Given the description of an element on the screen output the (x, y) to click on. 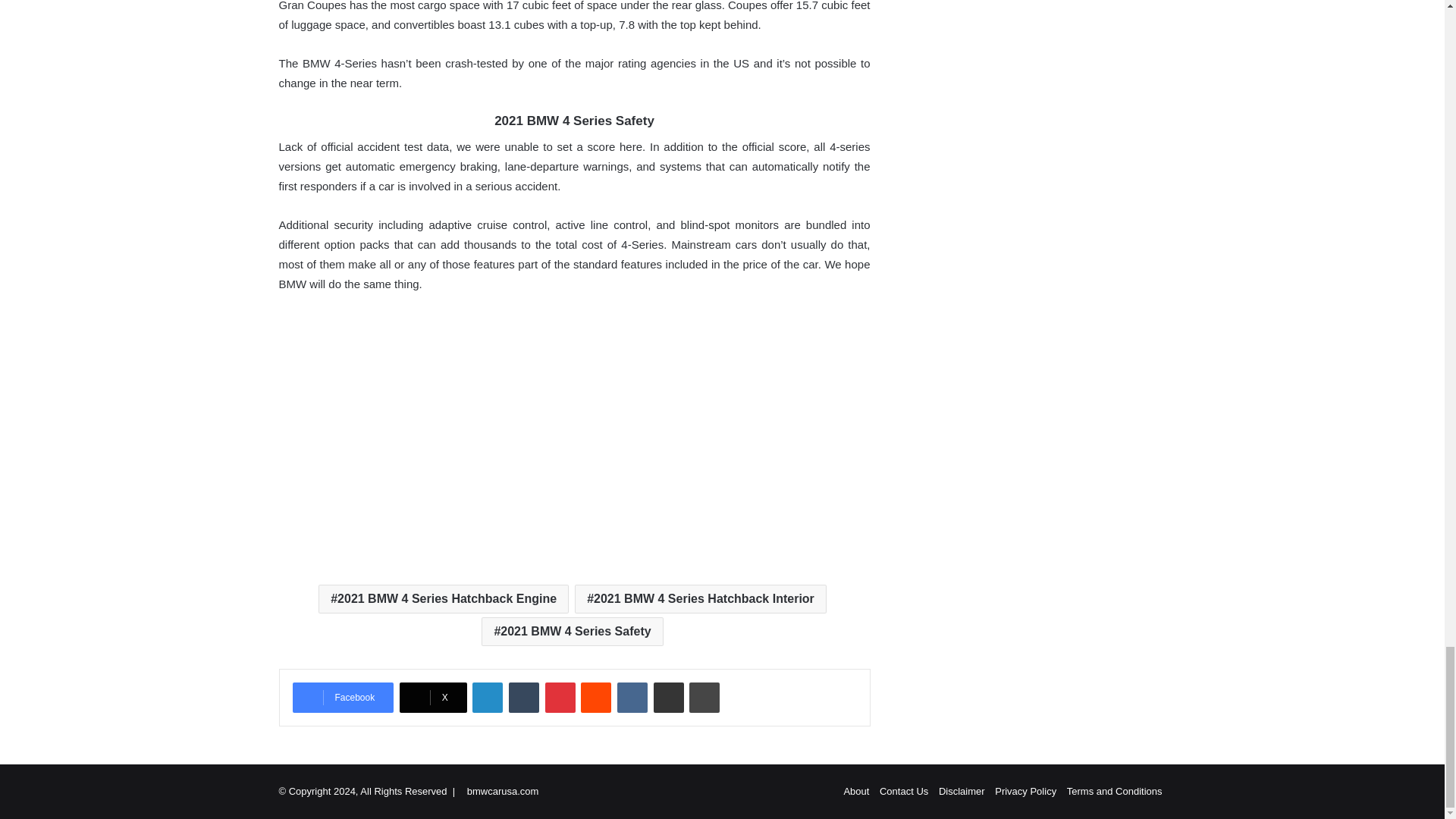
Share via Email (668, 697)
LinkedIn (486, 697)
X (432, 697)
VKontakte (632, 697)
Pinterest (559, 697)
Reddit (595, 697)
Print (703, 697)
Tumblr (523, 697)
Facebook (343, 697)
